Given the description of an element on the screen output the (x, y) to click on. 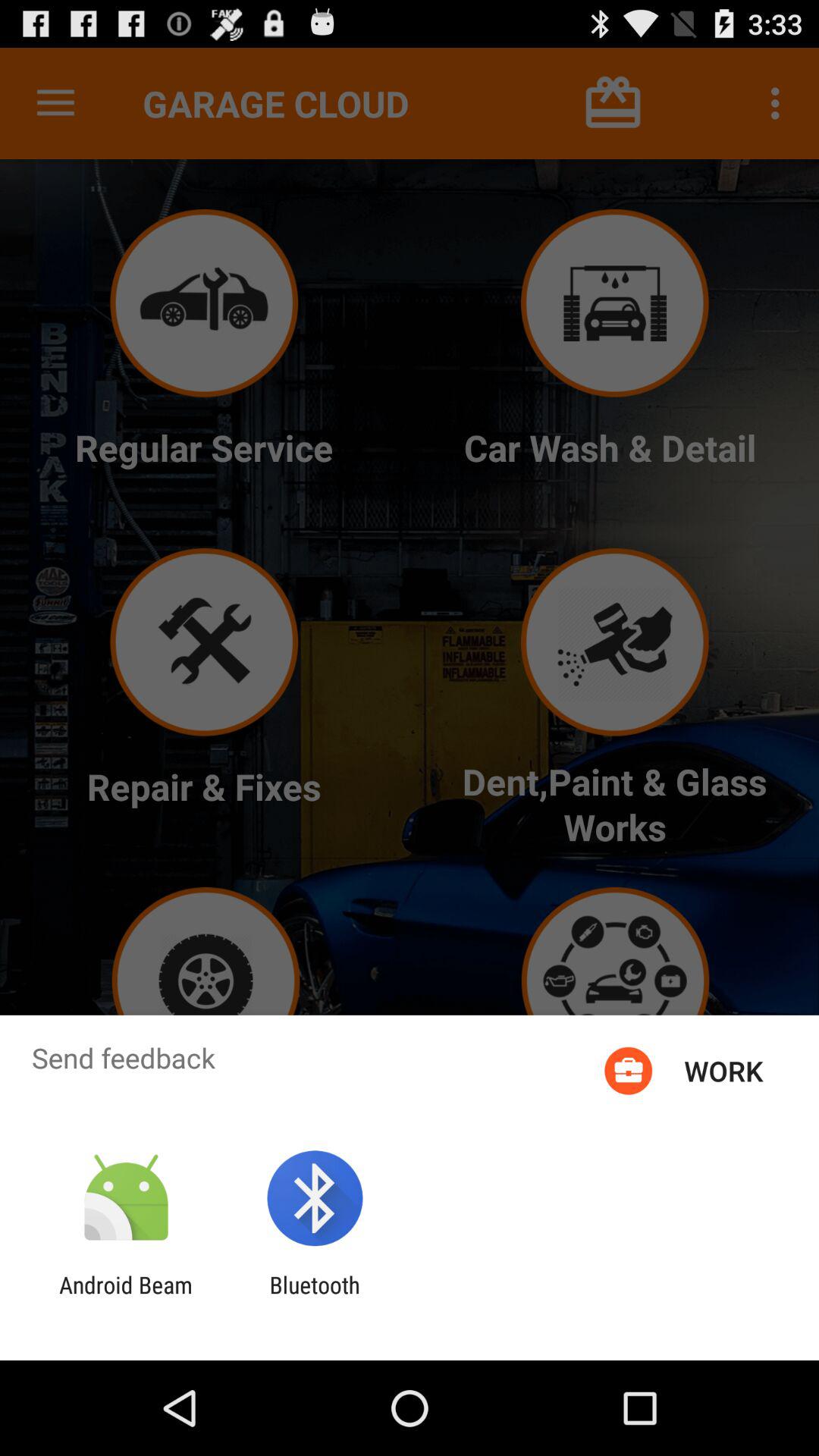
turn off android beam app (125, 1298)
